Given the description of an element on the screen output the (x, y) to click on. 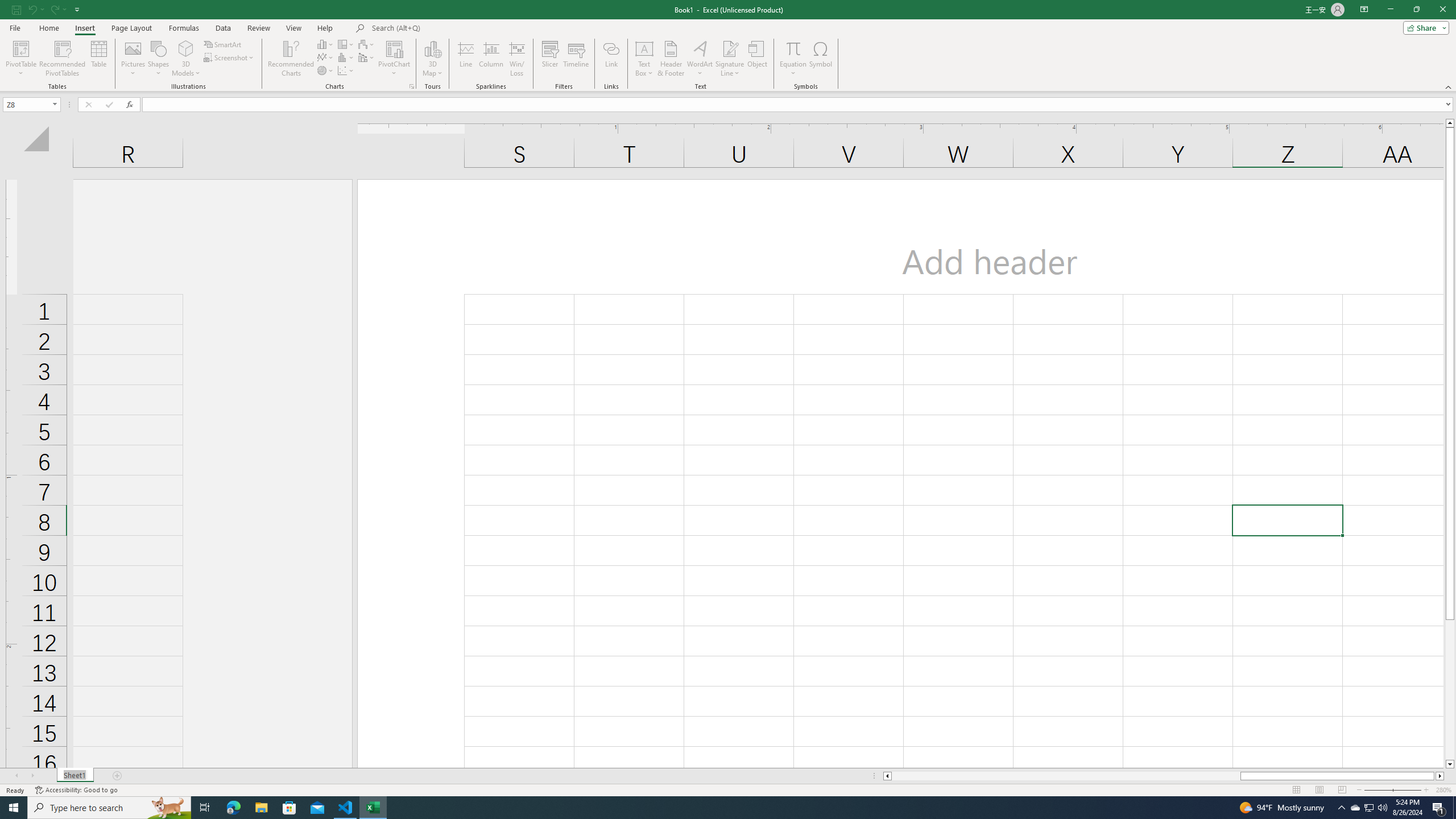
Equation (793, 58)
SmartArt... (223, 44)
Signature Line (729, 48)
Draw Horizontal Text Box (643, 48)
Pictures (133, 58)
Column (491, 58)
